Given the description of an element on the screen output the (x, y) to click on. 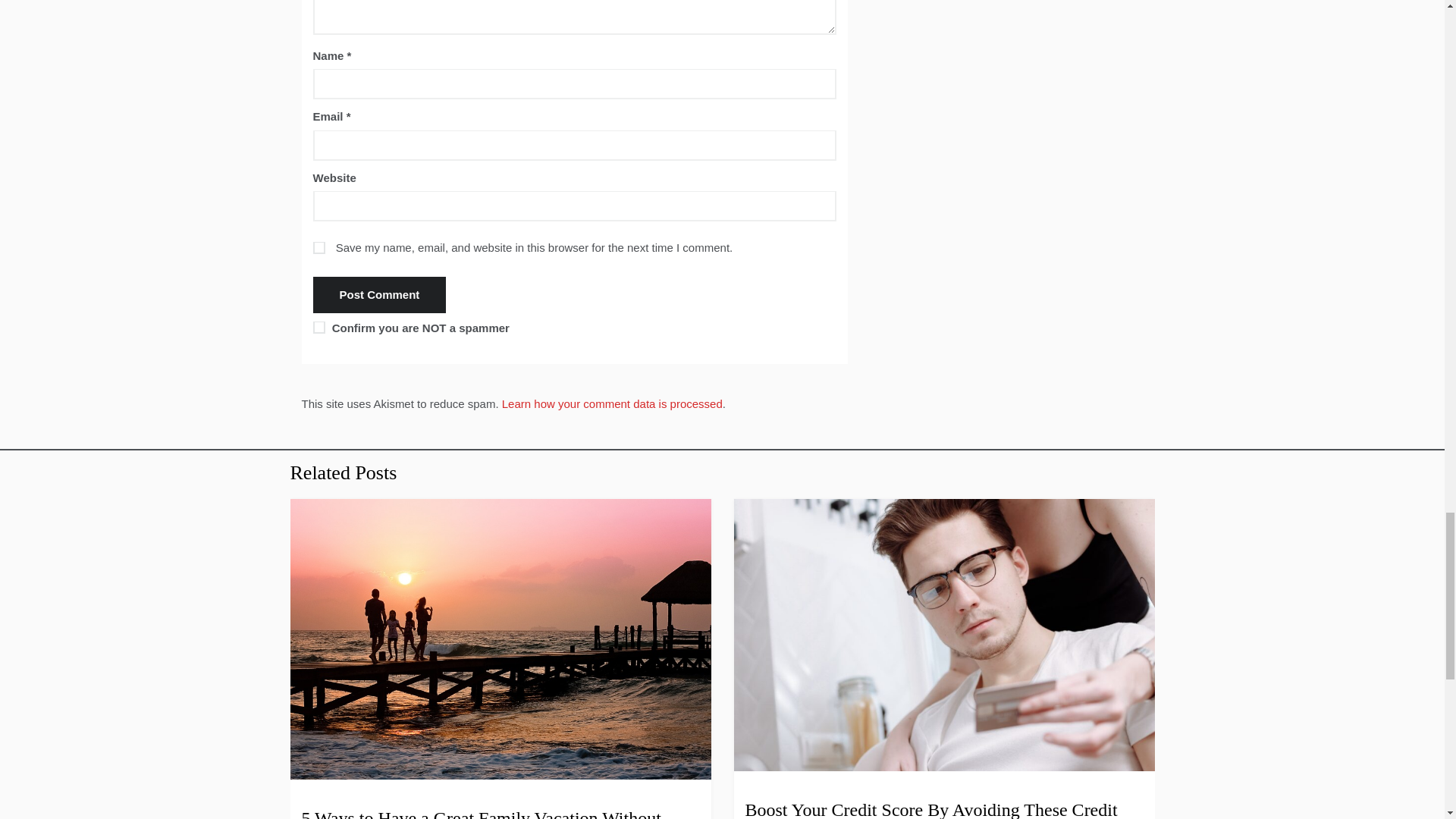
on (318, 327)
yes (318, 247)
Post Comment (379, 294)
